Given the description of an element on the screen output the (x, y) to click on. 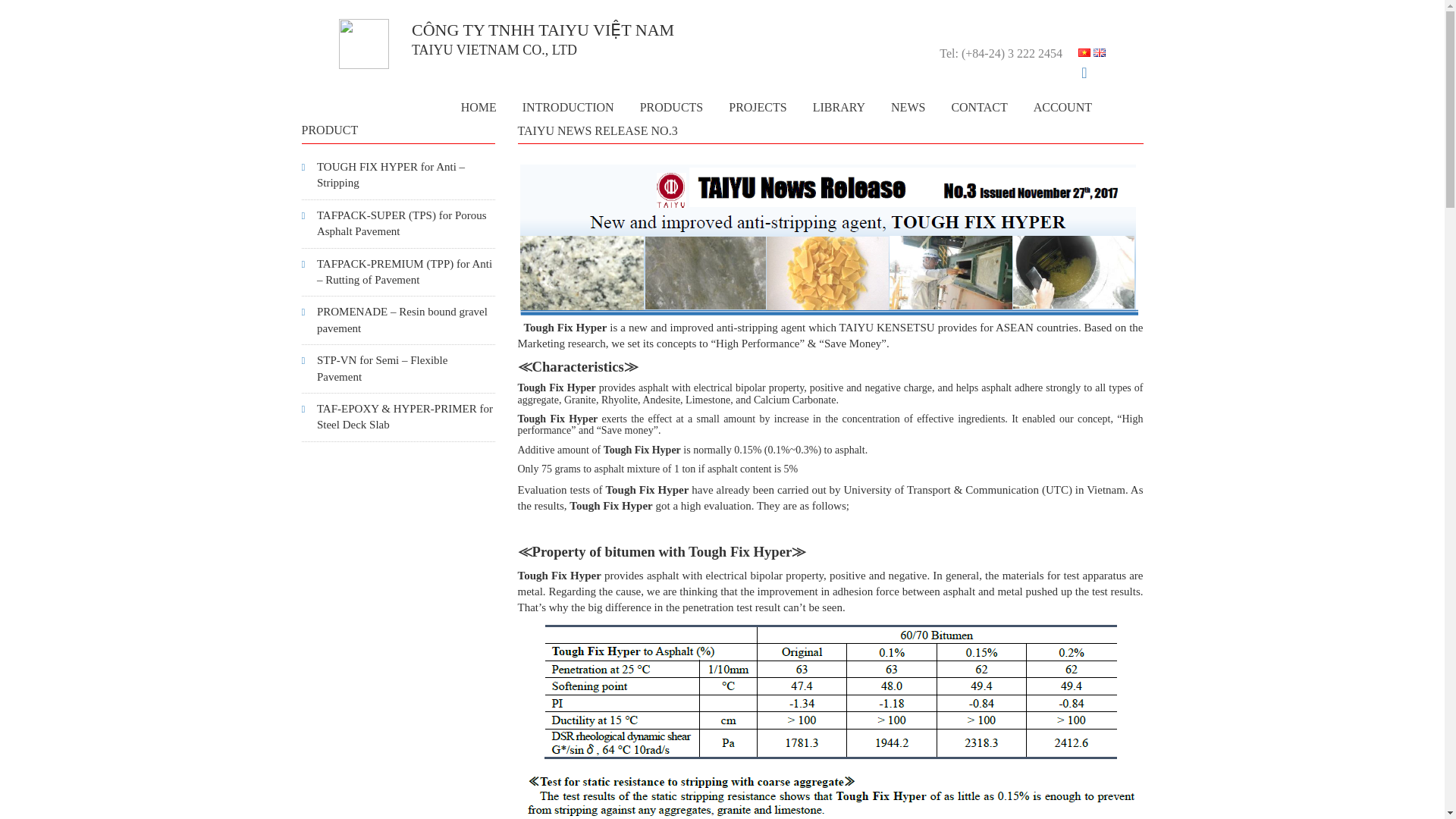
INTRODUCTION (568, 107)
PRODUCTS (671, 107)
HOME (478, 107)
CONTACT (978, 107)
ACCOUNT (1062, 107)
LIBRARY (838, 107)
PROJECTS (757, 107)
NEWS (907, 107)
